Given the description of an element on the screen output the (x, y) to click on. 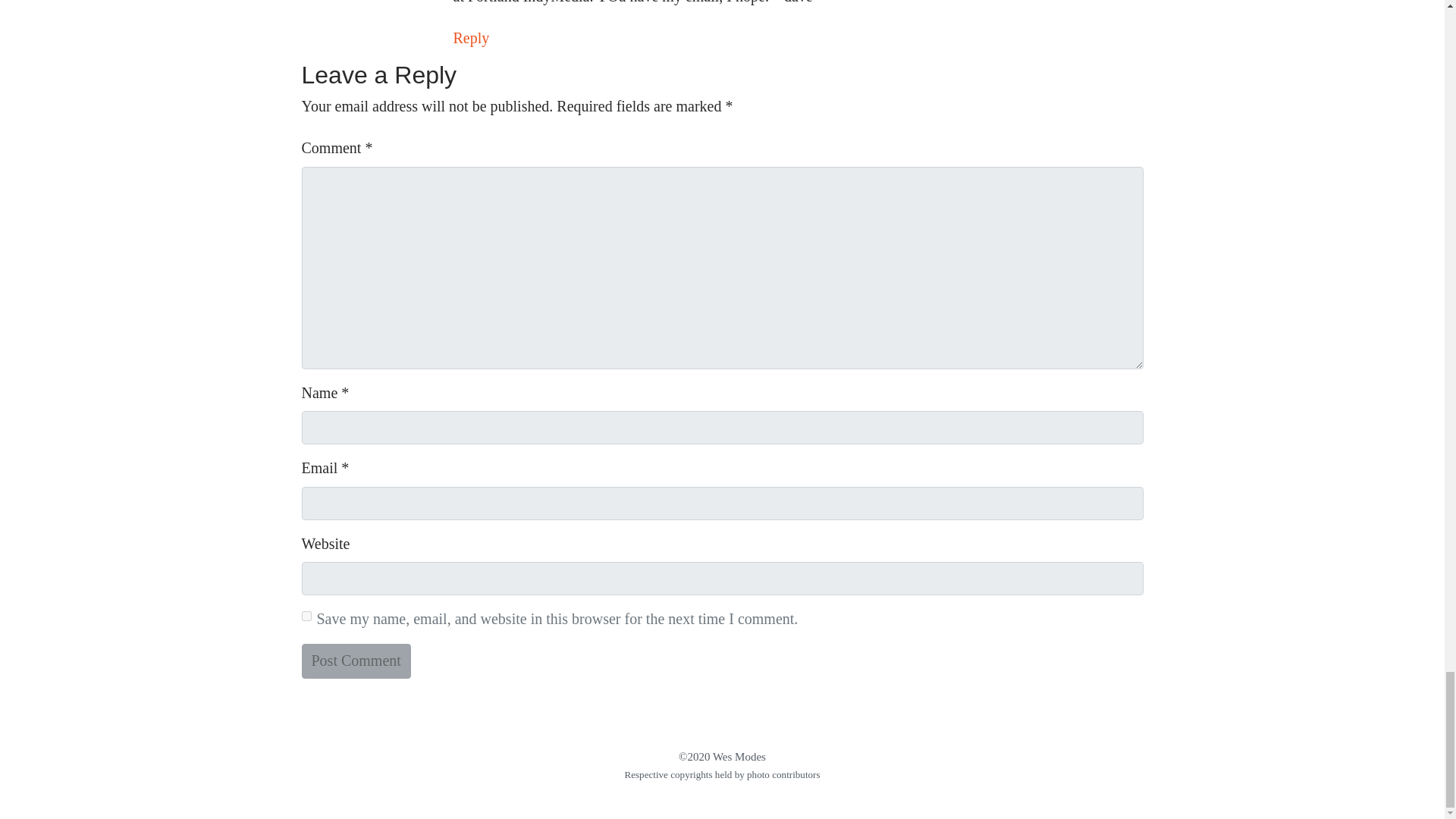
Post Comment (355, 660)
yes (306, 615)
